Given the description of an element on the screen output the (x, y) to click on. 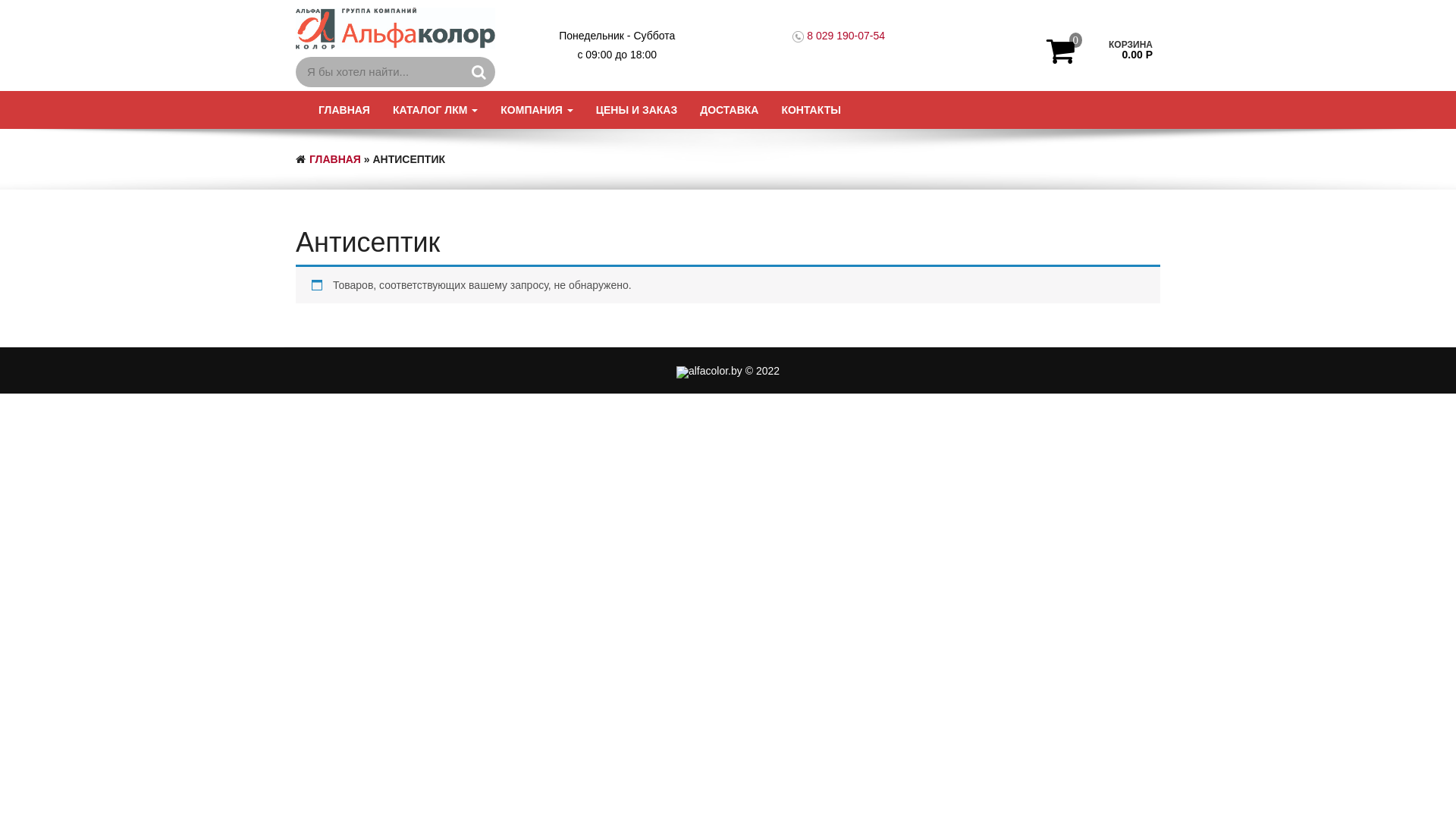
8 029 190-07-54 Element type: text (845, 35)
